Given the description of an element on the screen output the (x, y) to click on. 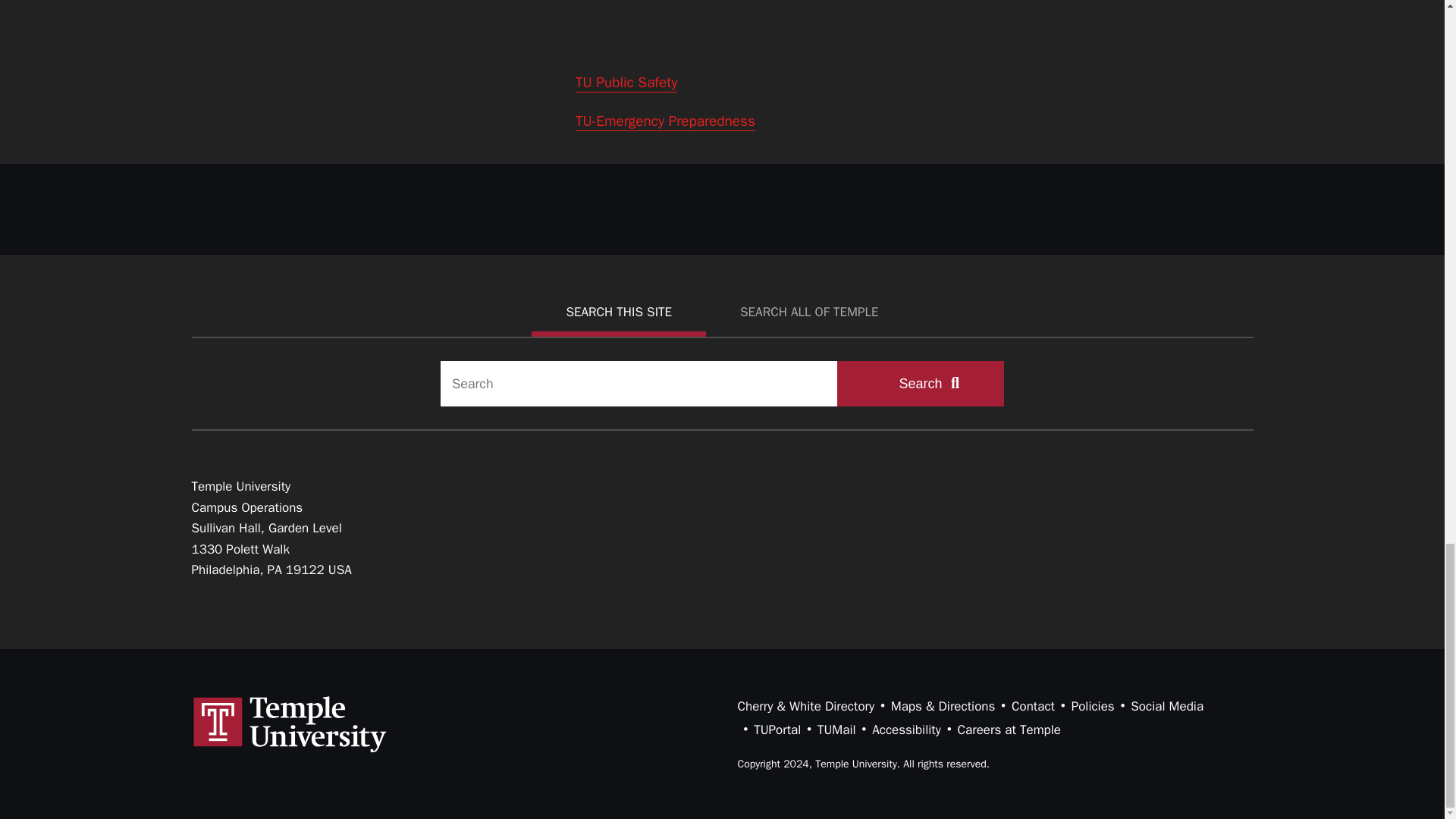
Search (920, 383)
Search (920, 383)
